Given the description of an element on the screen output the (x, y) to click on. 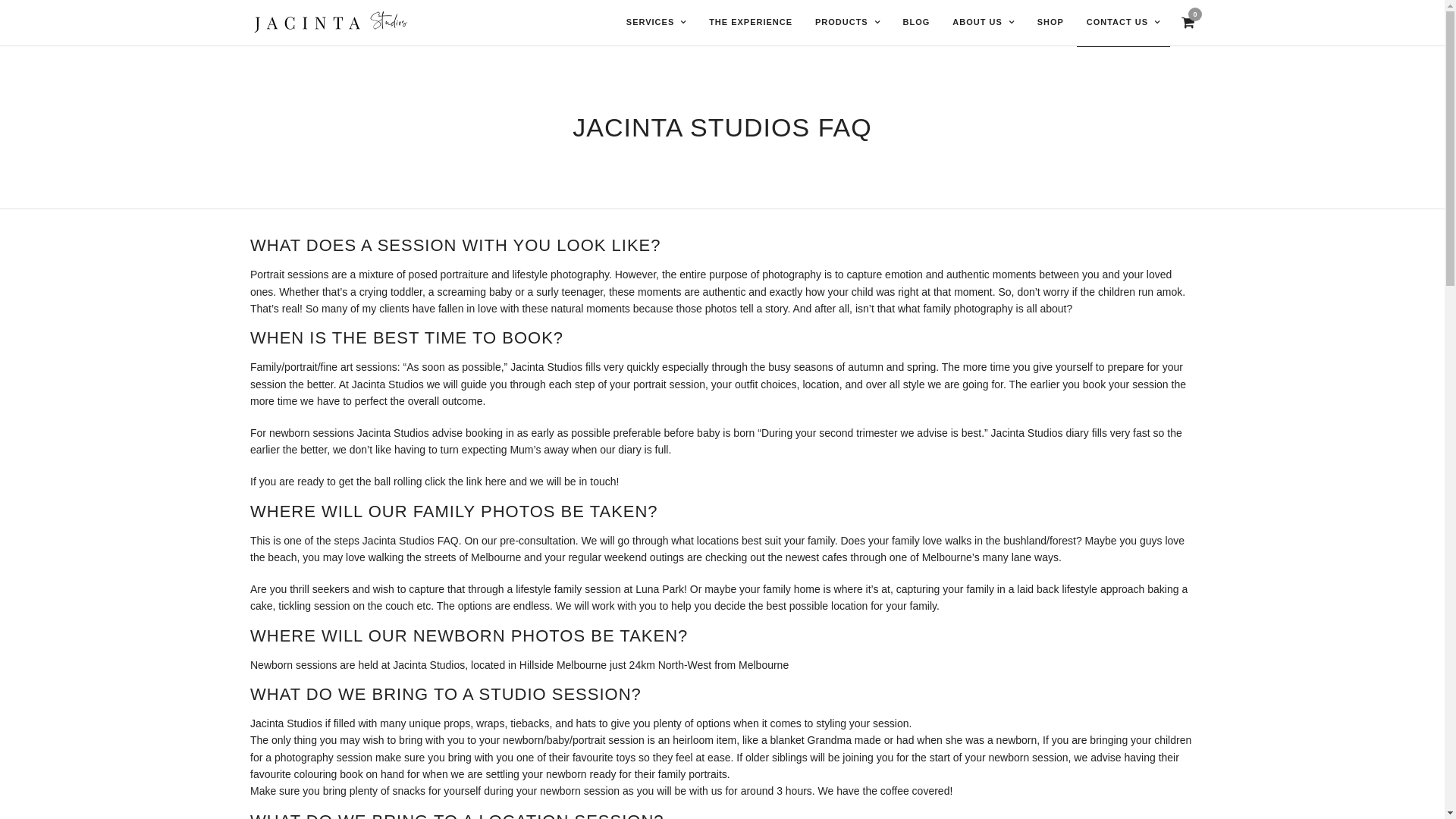
View Cart Element type: hover (1187, 23)
